Given the description of an element on the screen output the (x, y) to click on. 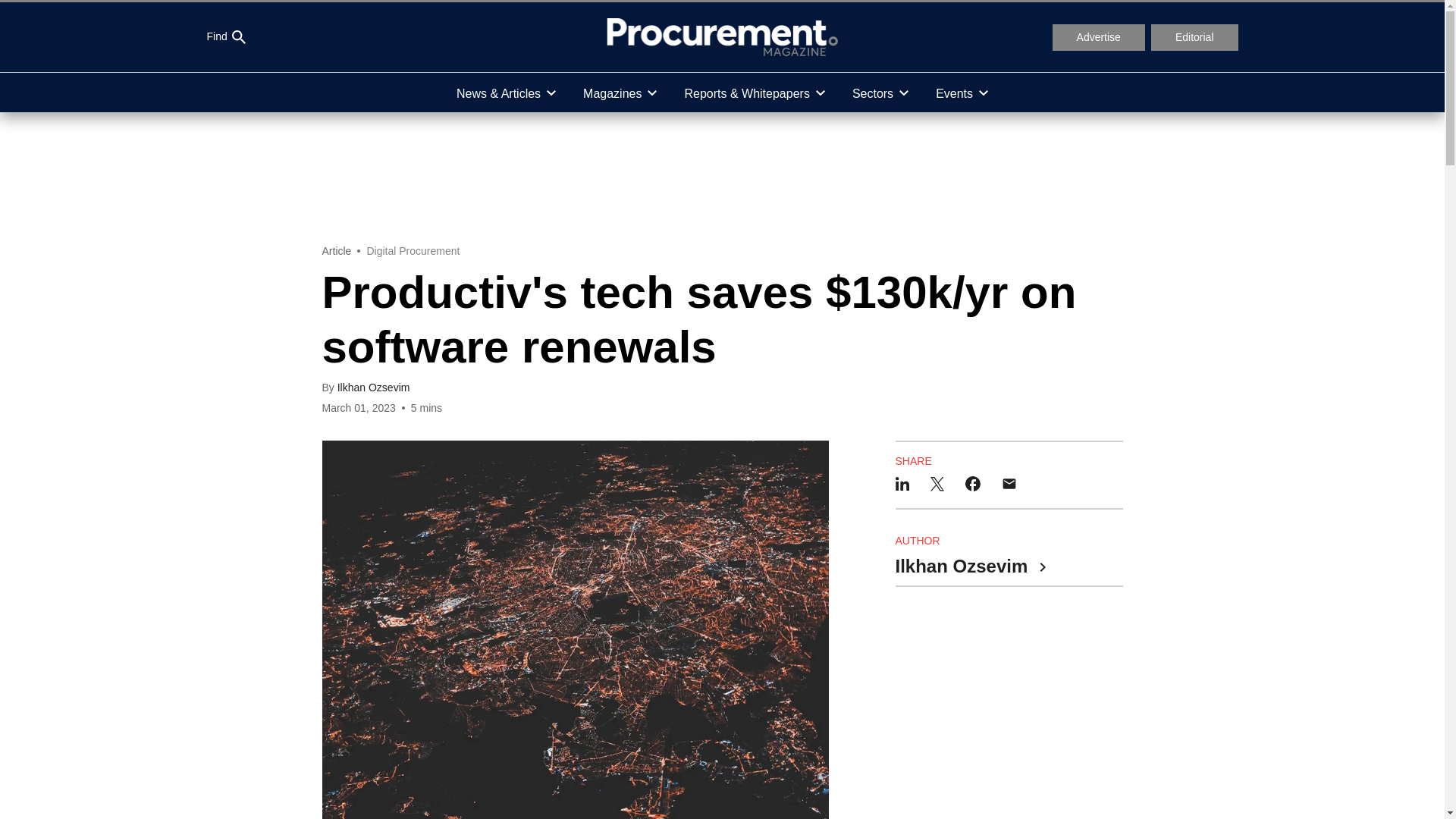
3rd party ad content (1008, 705)
Sectors (879, 92)
Advertise (1098, 37)
Find (225, 37)
Events (961, 92)
Magazines (619, 92)
3rd party ad content (721, 178)
Editorial (1195, 37)
